Given the description of an element on the screen output the (x, y) to click on. 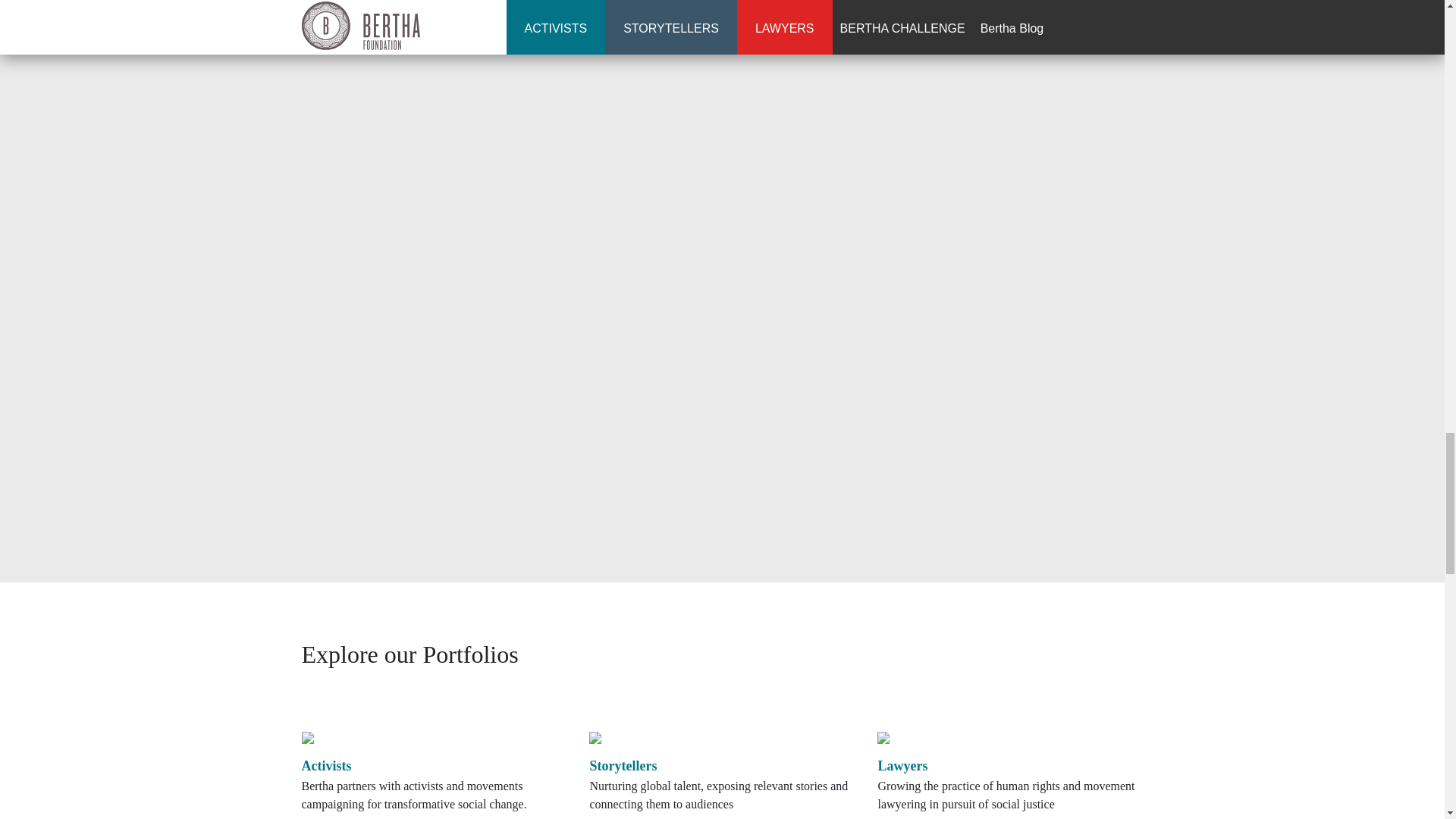
Storytellers (622, 765)
Lawyers (902, 765)
Activists (326, 765)
